Given the description of an element on the screen output the (x, y) to click on. 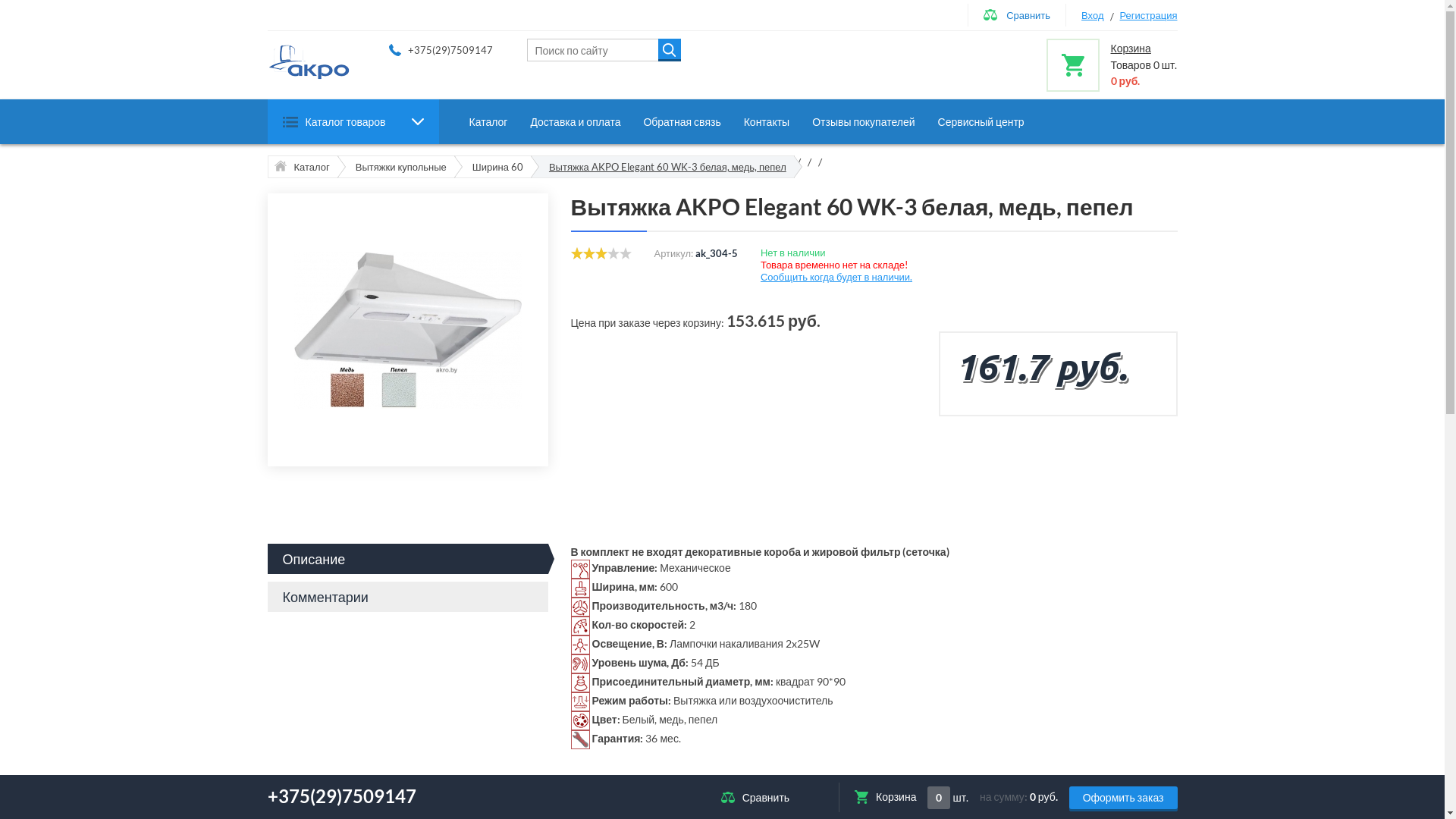
AKPO Element type: hover (308, 61)
